Given the description of an element on the screen output the (x, y) to click on. 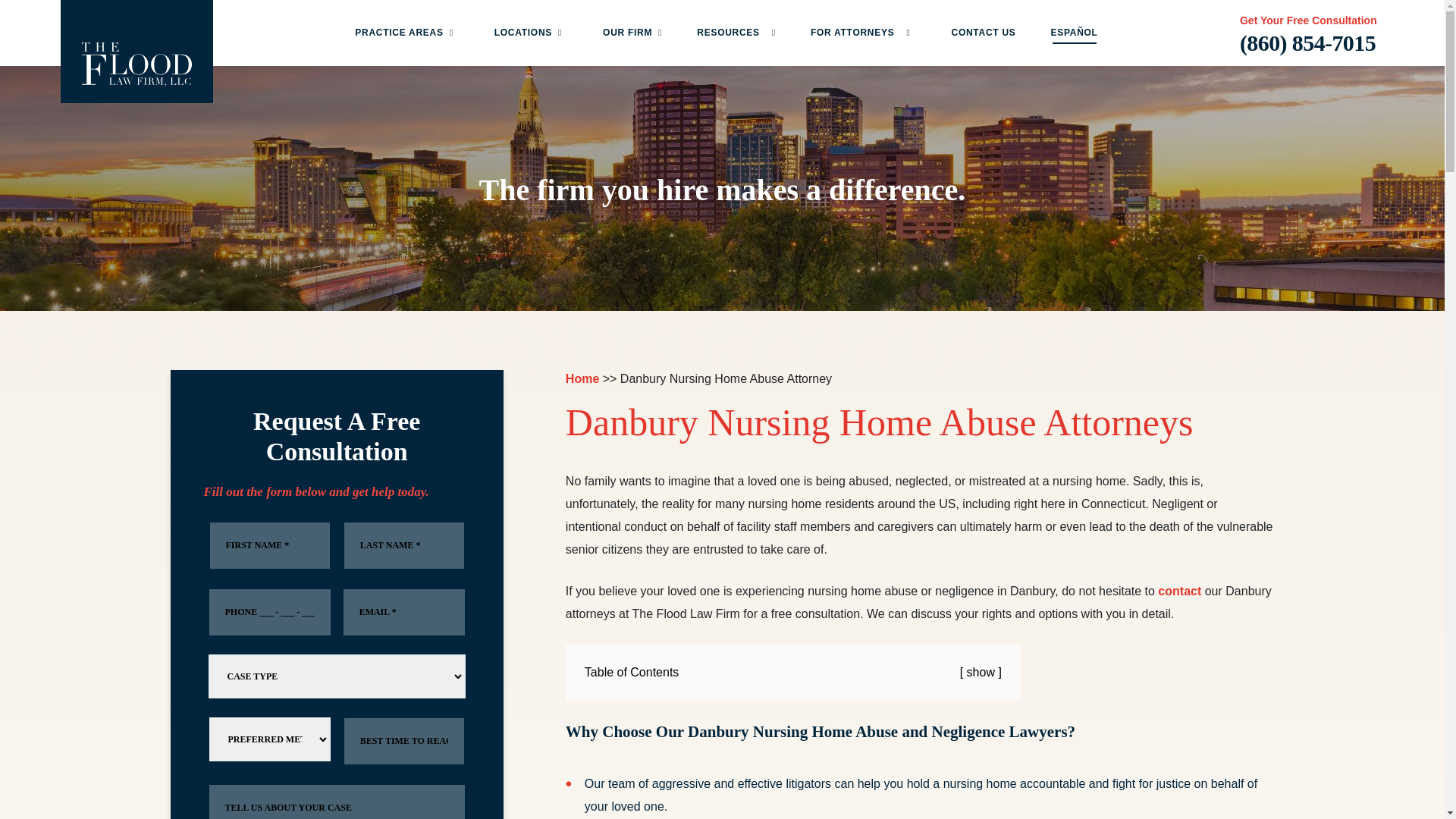
PRACTICE AREAS (398, 32)
LOCATIONS (522, 32)
OUR FIRM (627, 32)
FOR ATTORNEYS (857, 32)
RESOURCES (734, 32)
